Given the description of an element on the screen output the (x, y) to click on. 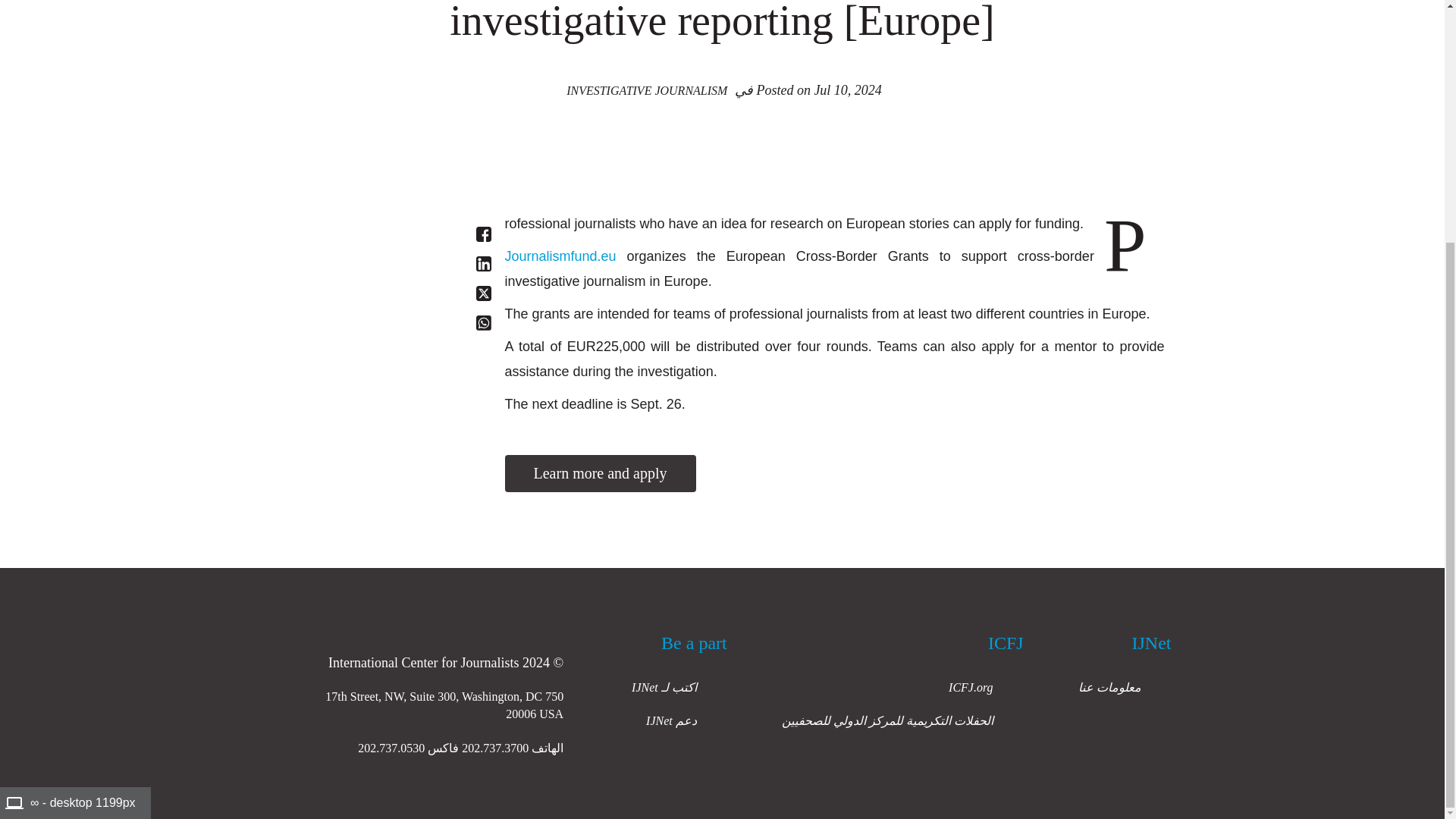
Whatsapp (484, 322)
Linkedin (484, 263)
Twitter (484, 293)
Facebook (484, 233)
